Given the description of an element on the screen output the (x, y) to click on. 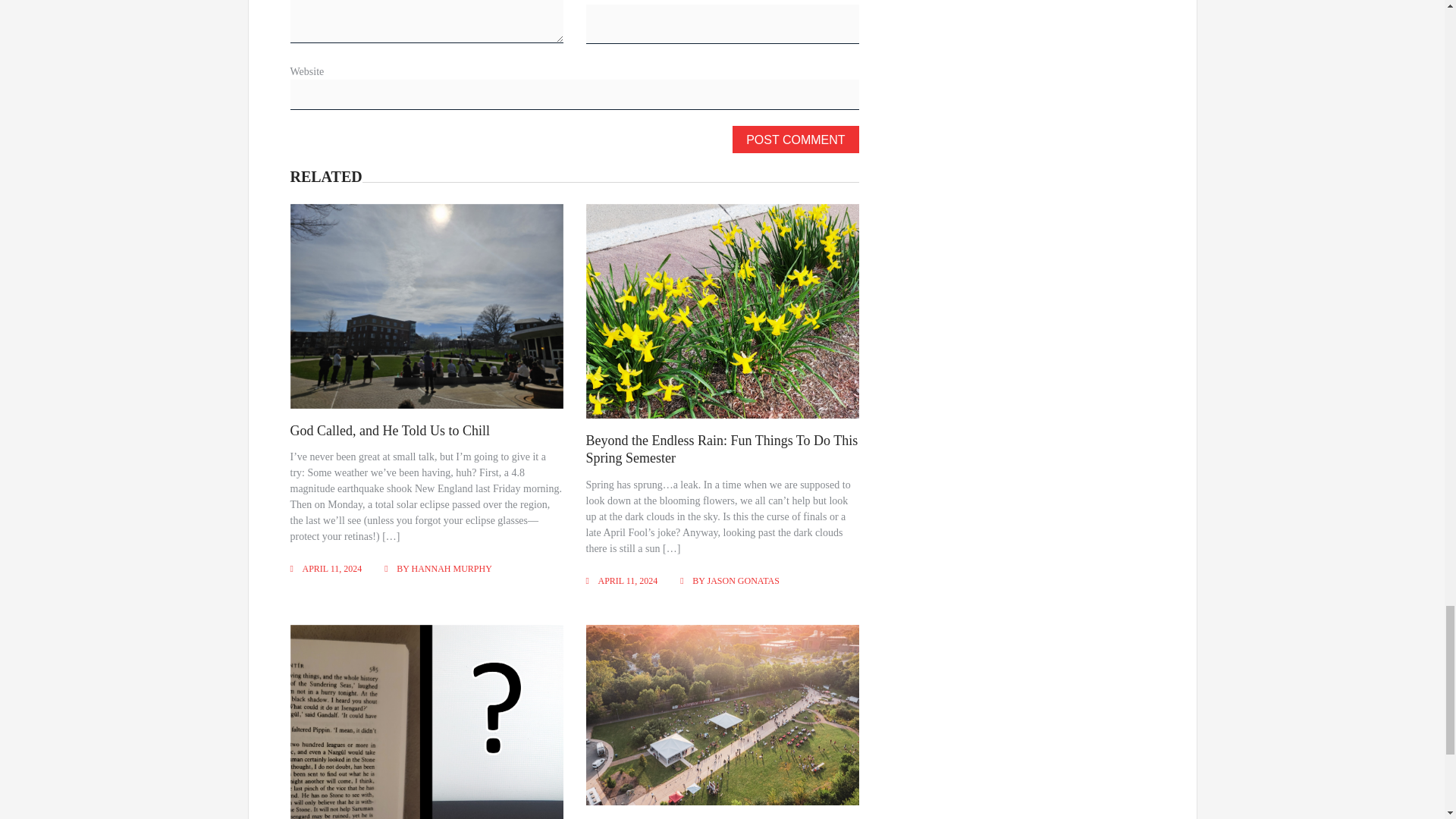
Post Comment (795, 139)
